Given the description of an element on the screen output the (x, y) to click on. 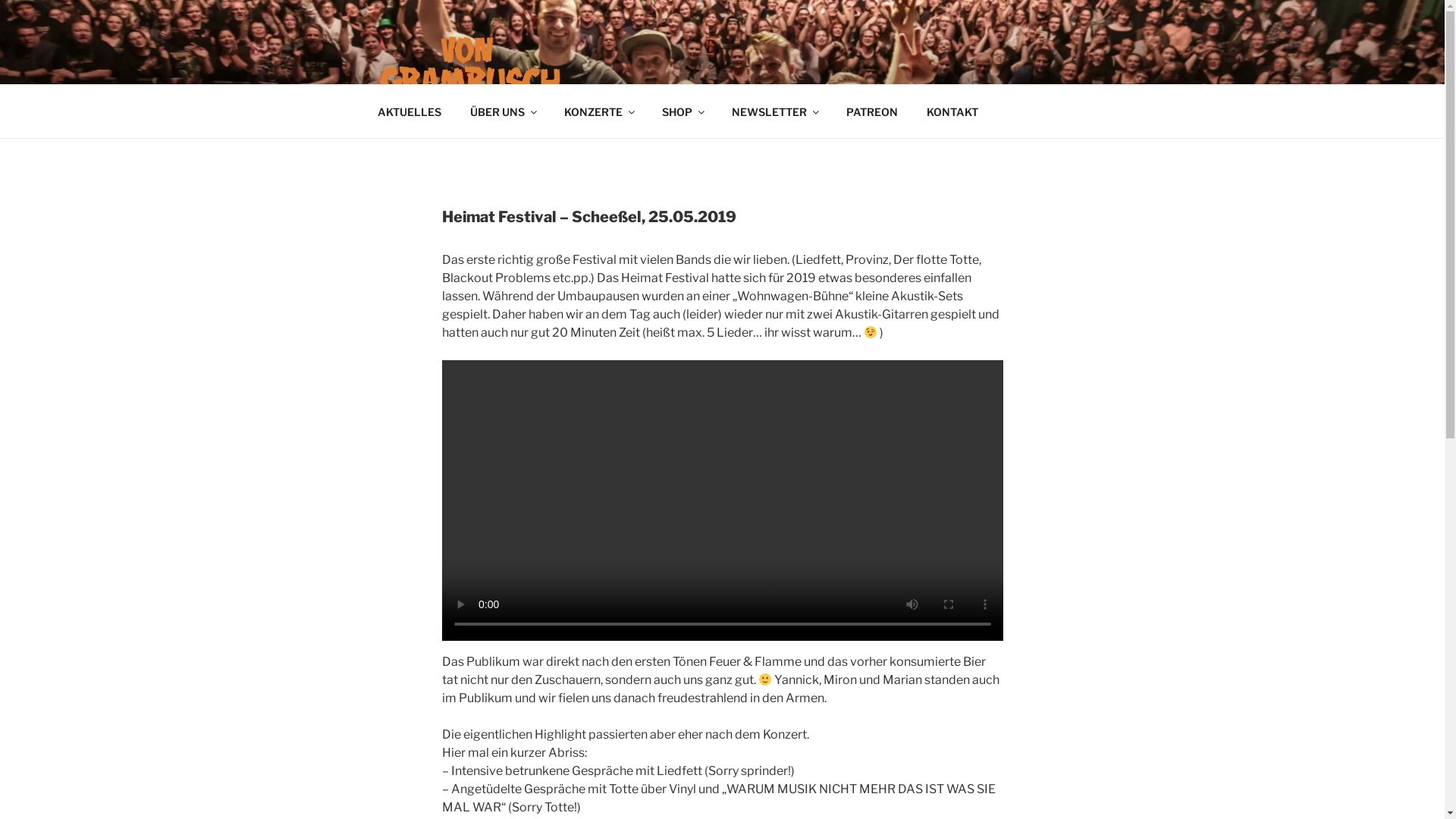
KONTAKT Element type: text (952, 110)
AKTUELLES Element type: text (409, 110)
SHOP Element type: text (682, 110)
NEWSLETTER Element type: text (774, 110)
KONZERTE Element type: text (598, 110)
VON GRAMBUSCH Element type: text (518, 118)
PATREON Element type: text (871, 110)
